Given the description of an element on the screen output the (x, y) to click on. 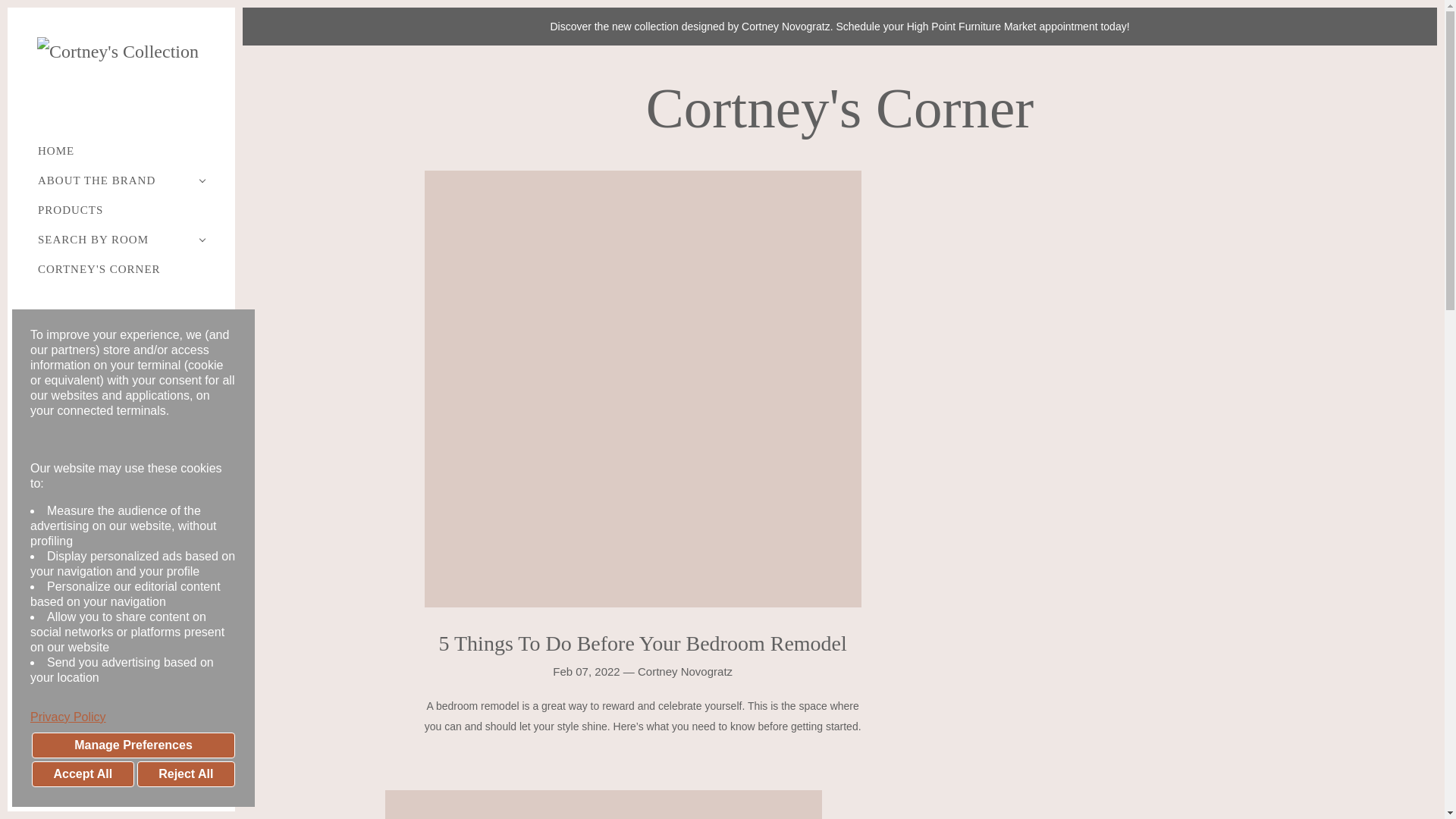
Reject All (185, 774)
HOME (121, 151)
Accept All (82, 774)
Product Warranty (121, 517)
Search (121, 314)
Manage Preferences (133, 745)
Cookie Policy (121, 501)
CORTNEY'S CORNER (121, 269)
Get in Touch (121, 338)
Facebook (43, 446)
